Given the description of an element on the screen output the (x, y) to click on. 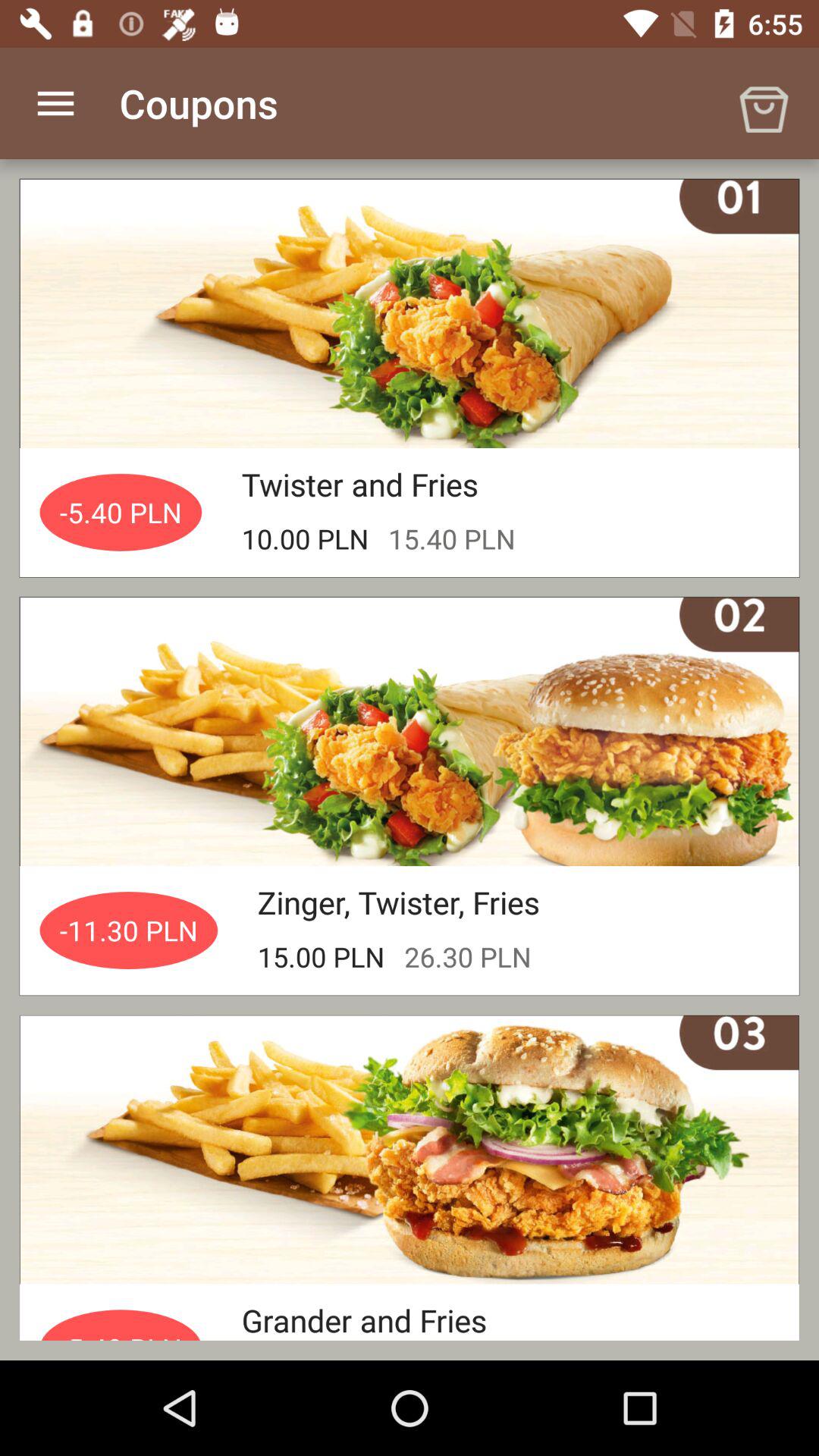
press the item next to coupons (55, 103)
